Given the description of an element on the screen output the (x, y) to click on. 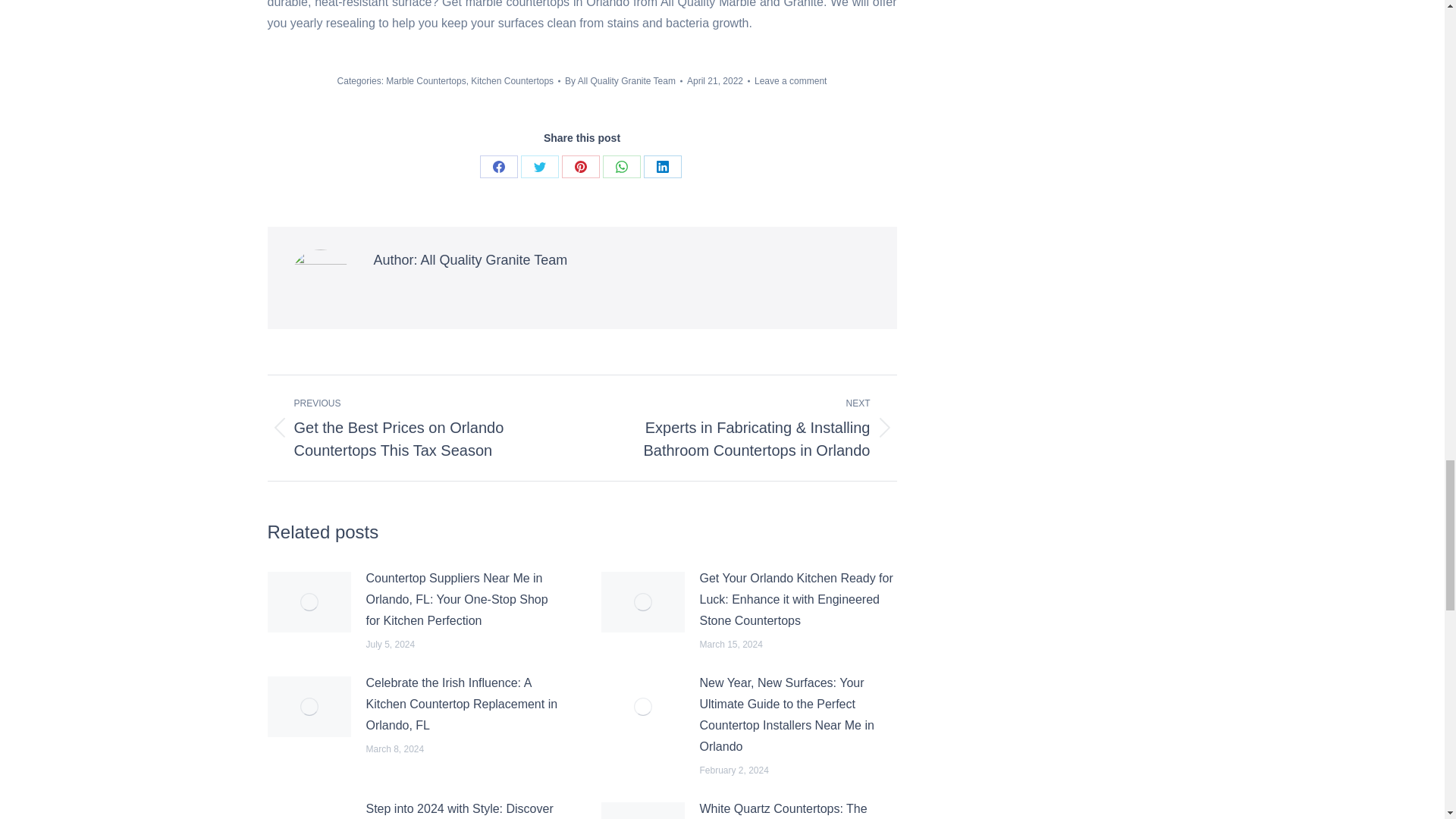
8:57 am (718, 81)
WhatsApp (621, 166)
Facebook (497, 166)
View all posts by All Quality Granite Team (623, 81)
Twitter (538, 166)
LinkedIn (662, 166)
Pinterest (579, 166)
